Given the description of an element on the screen output the (x, y) to click on. 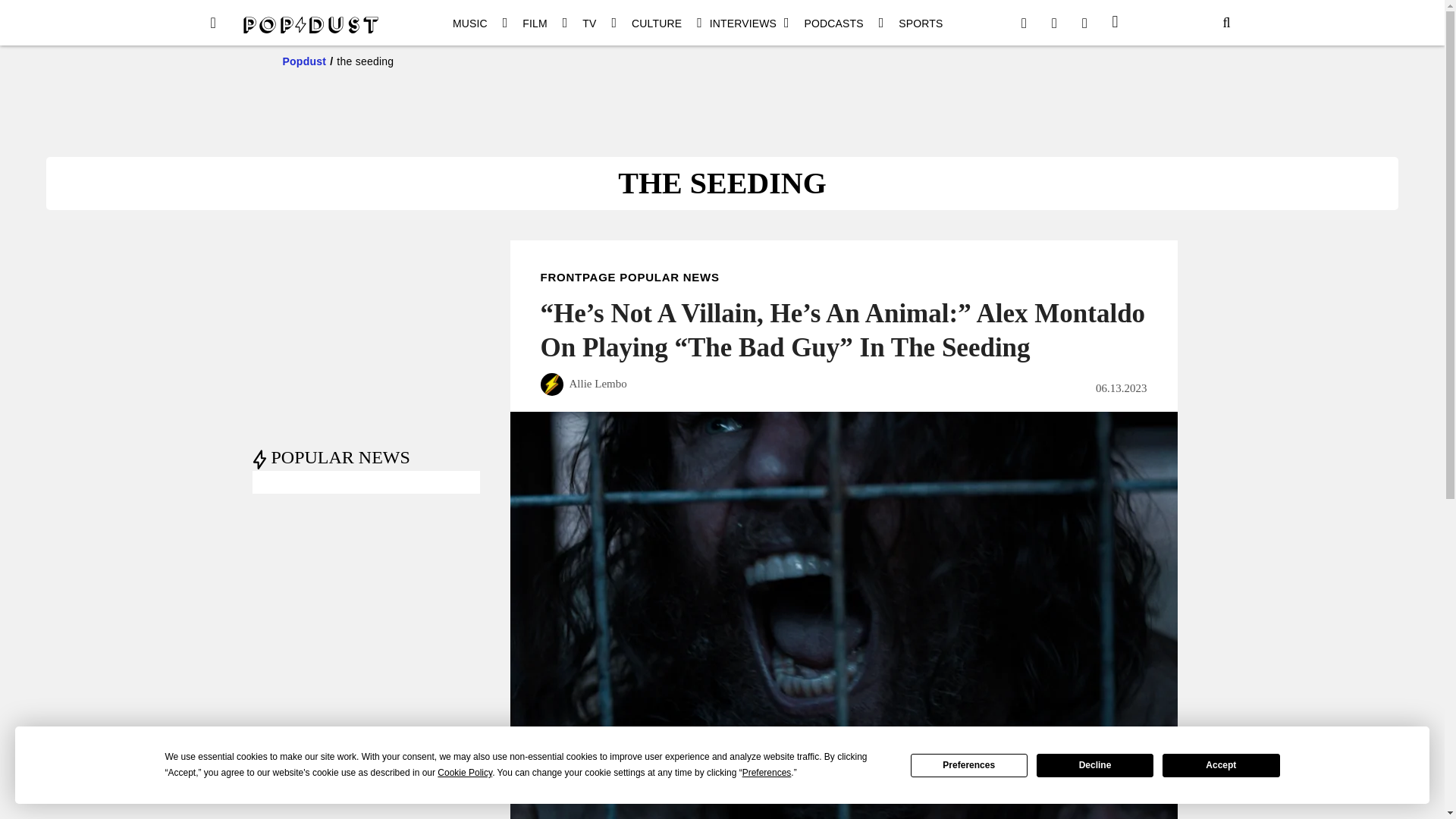
Accept (1220, 765)
Decline (1094, 765)
Preferences (969, 765)
MUSIC (470, 22)
FILM (534, 22)
